Given the description of an element on the screen output the (x, y) to click on. 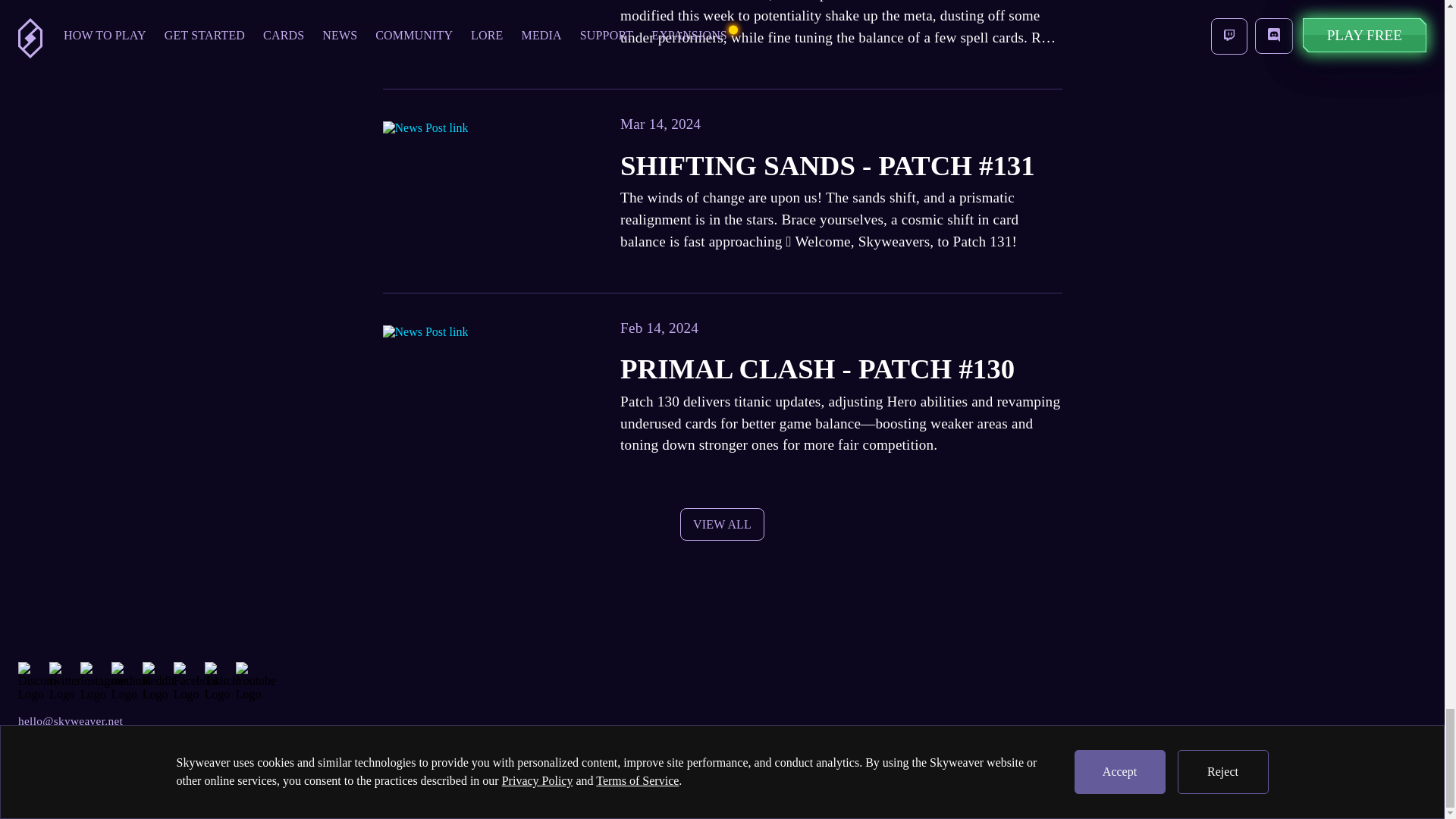
VIEW ALL (721, 523)
